Given the description of an element on the screen output the (x, y) to click on. 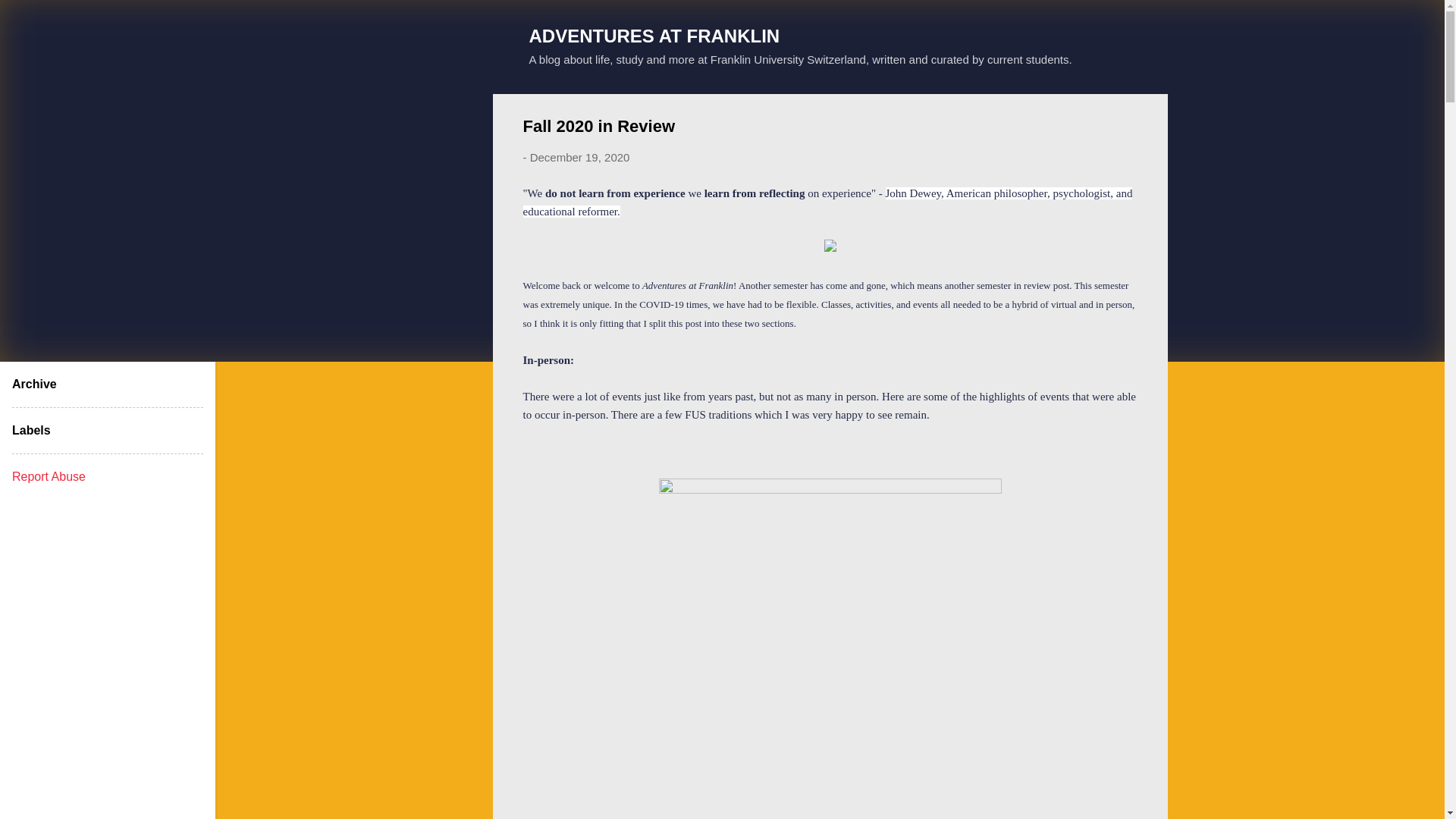
December 19, 2020 (579, 156)
permanent link (579, 156)
Search (29, 18)
ADVENTURES AT FRANKLIN (654, 35)
